Given the description of an element on the screen output the (x, y) to click on. 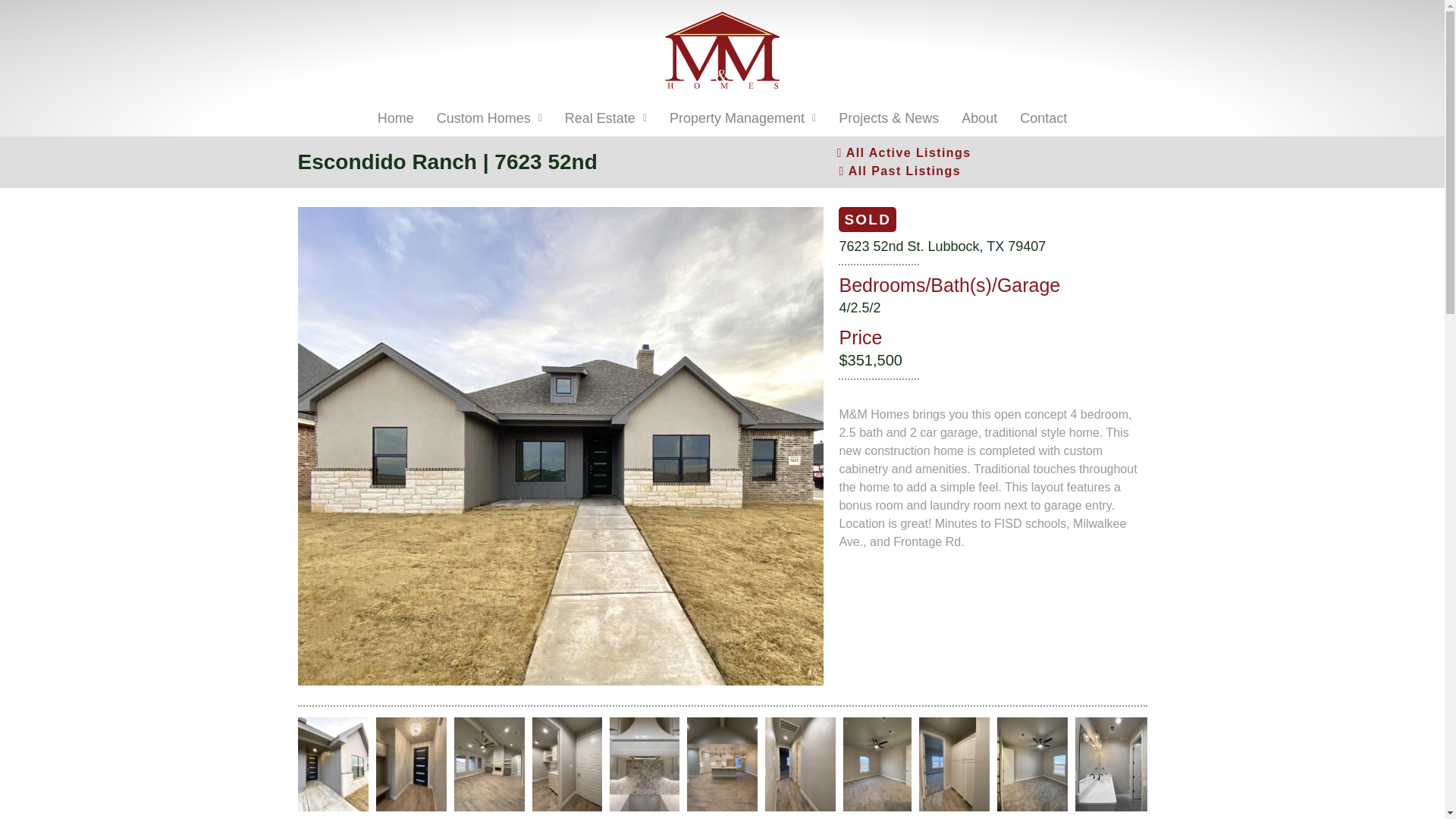
About (979, 117)
Contact (1043, 117)
All Past Listings (899, 171)
Real Estate (605, 117)
Custom Homes (489, 117)
Property Management (742, 117)
All Active Listings (903, 152)
Home (395, 117)
